Given the description of an element on the screen output the (x, y) to click on. 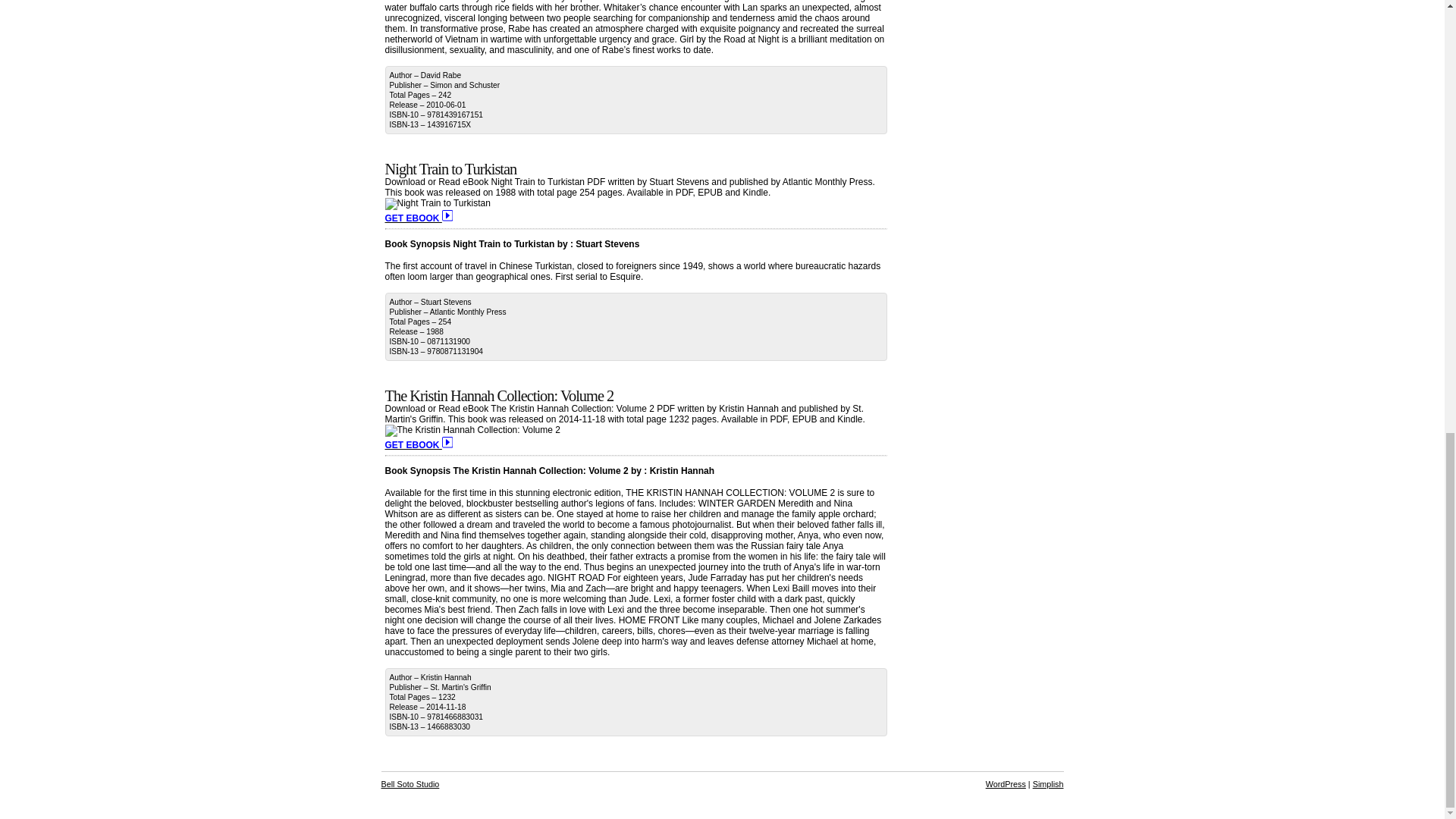
GET EBOOK (418, 217)
The Kristin Hannah Collection: Volume 2 (499, 395)
Simplish Style (1048, 783)
WordPress Engine (1005, 783)
Night Train to Turkistan (450, 168)
GET EBOOK (418, 444)
WordPress (1005, 783)
Simplish (1048, 783)
Bell Soto Studio (409, 783)
